Given the description of an element on the screen output the (x, y) to click on. 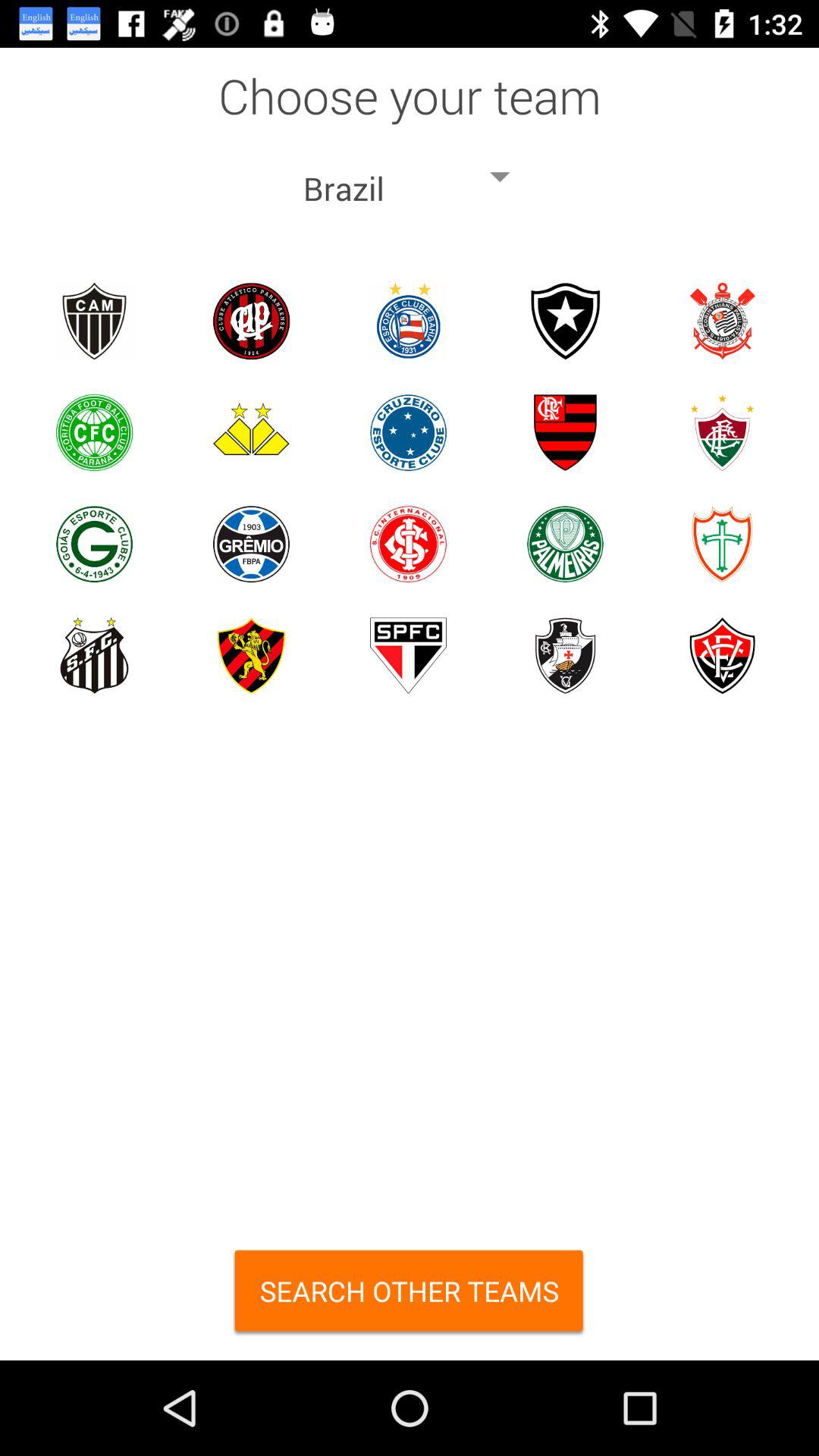
scroll until search other teams item (409, 1296)
